Given the description of an element on the screen output the (x, y) to click on. 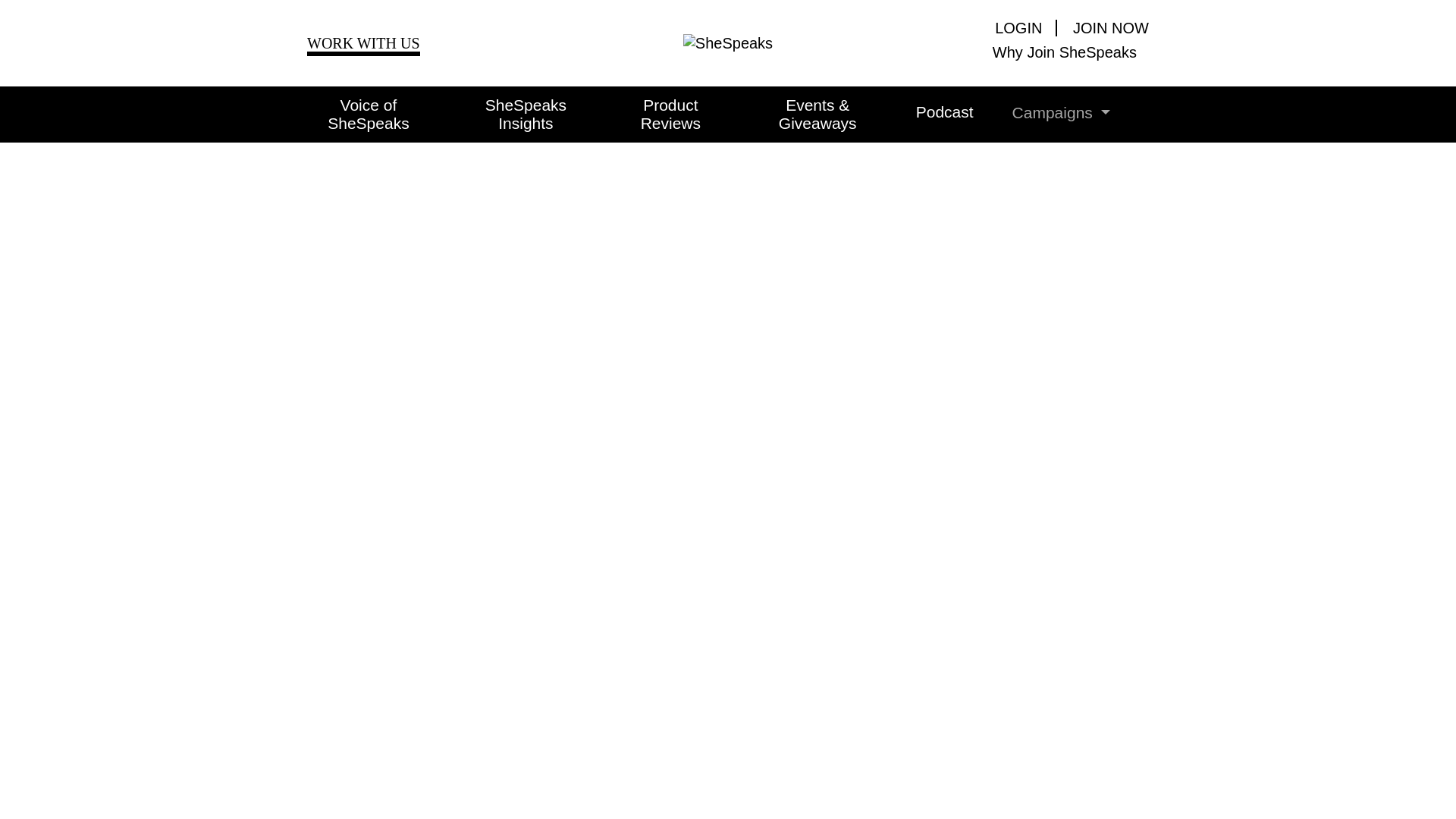
WORK WITH US (363, 45)
LOGIN (1025, 27)
JOIN NOW (1104, 27)
Join Now (1104, 27)
Podcast (925, 112)
Why Join SheSpeaks (1015, 51)
Login (1025, 27)
Work with Us (363, 45)
Why Join SheSpeaks (1015, 51)
Campaigns (1042, 112)
Podcast (925, 112)
